Given the description of an element on the screen output the (x, y) to click on. 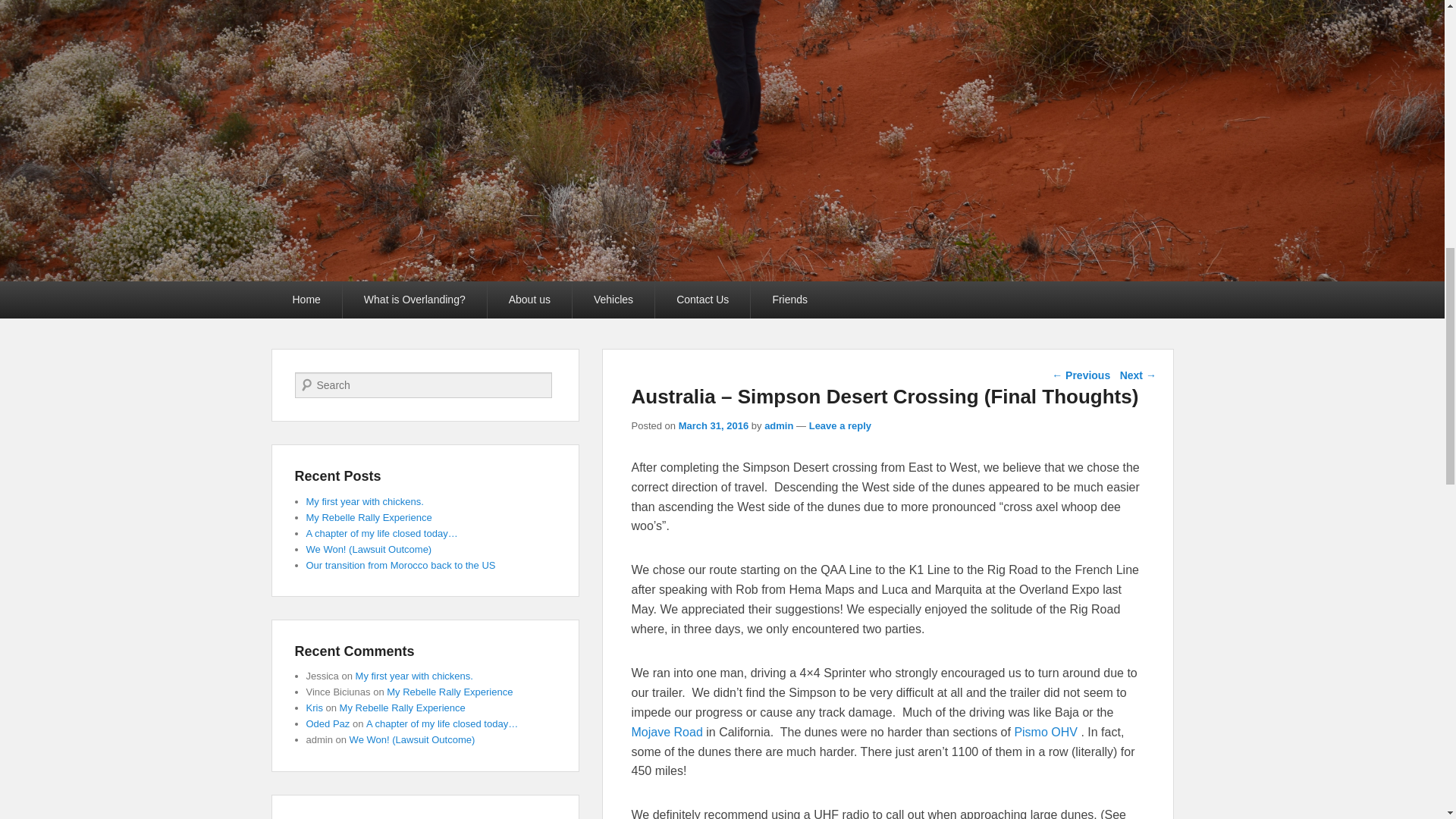
Home (306, 299)
View all posts by admin (778, 425)
Kris (314, 707)
Mojave Road (665, 731)
March 31, 2016 (713, 425)
admin (778, 425)
What is Overlanding? (414, 299)
Contact Us (702, 299)
My Rebelle Rally Experience (368, 517)
My first year with chickens. (414, 675)
My Rebelle Rally Experience (402, 707)
Leave a reply (839, 425)
Oded Paz (327, 723)
My first year with chickens. (364, 501)
Pismo OHV (1046, 731)
